Given the description of an element on the screen output the (x, y) to click on. 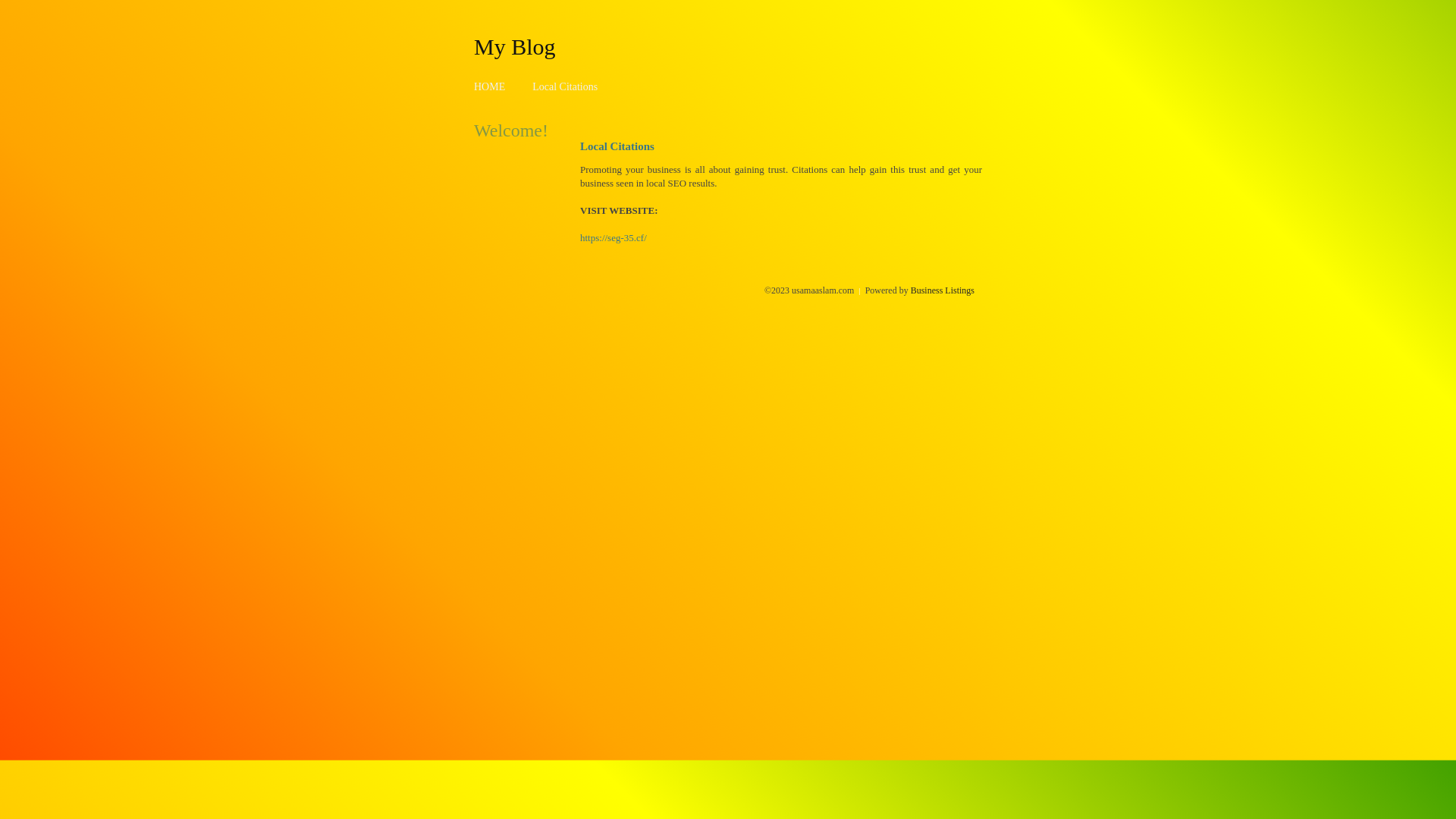
My Blog Element type: text (514, 46)
HOME Element type: text (489, 86)
https://seg-35.cf/ Element type: text (613, 237)
Local Citations Element type: text (564, 86)
Business Listings Element type: text (942, 290)
